Given the description of an element on the screen output the (x, y) to click on. 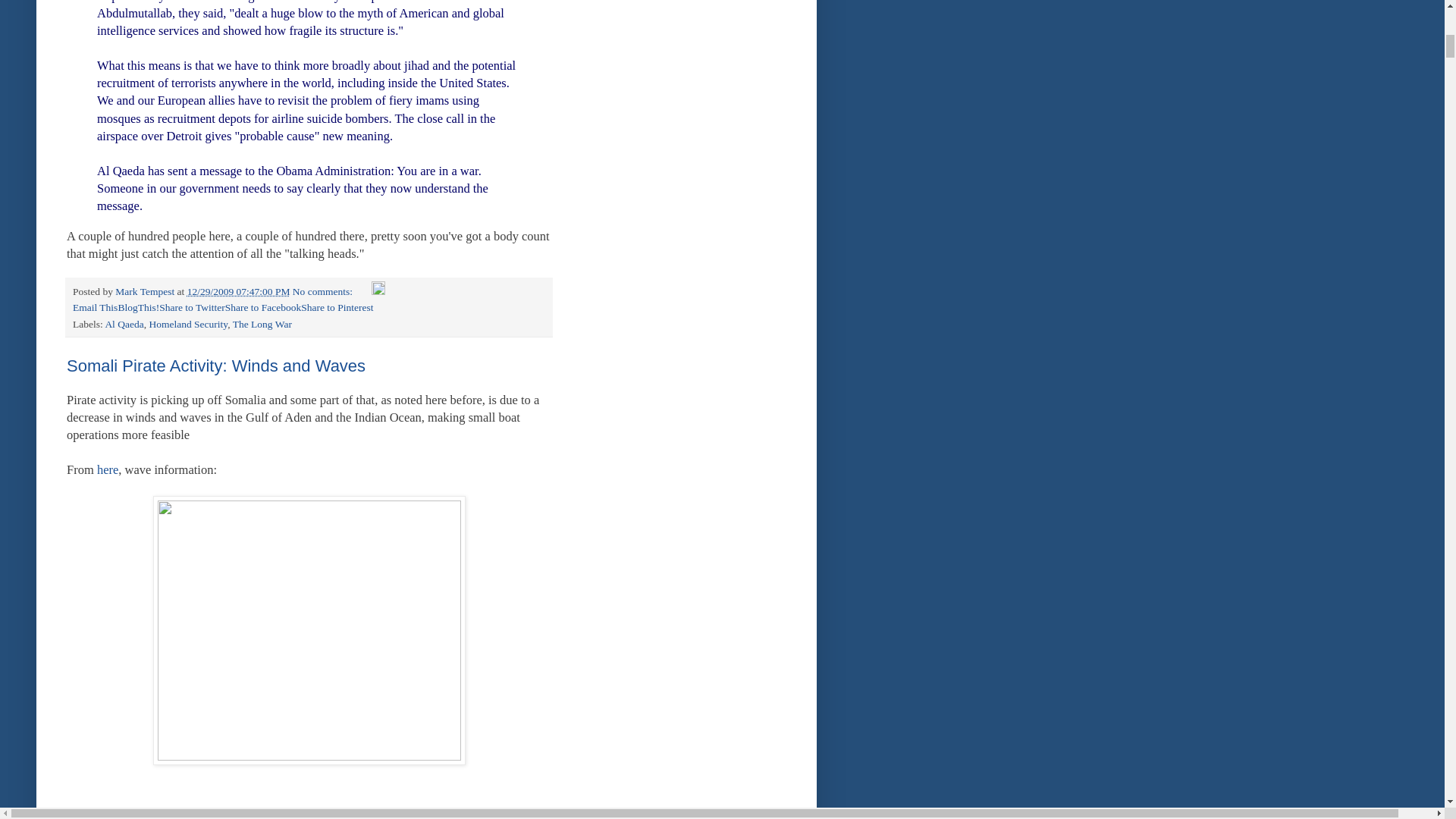
No comments: (323, 291)
permanent link (238, 291)
Email Post (363, 291)
BlogThis! (137, 307)
Share to Facebook (263, 307)
BlogThis! (137, 307)
Share to Twitter (191, 307)
author profile (145, 291)
Email This (94, 307)
Email This (94, 307)
Edit Post (378, 291)
Share to Pinterest (336, 307)
Mark Tempest (145, 291)
Al Qaeda (123, 324)
